Given the description of an element on the screen output the (x, y) to click on. 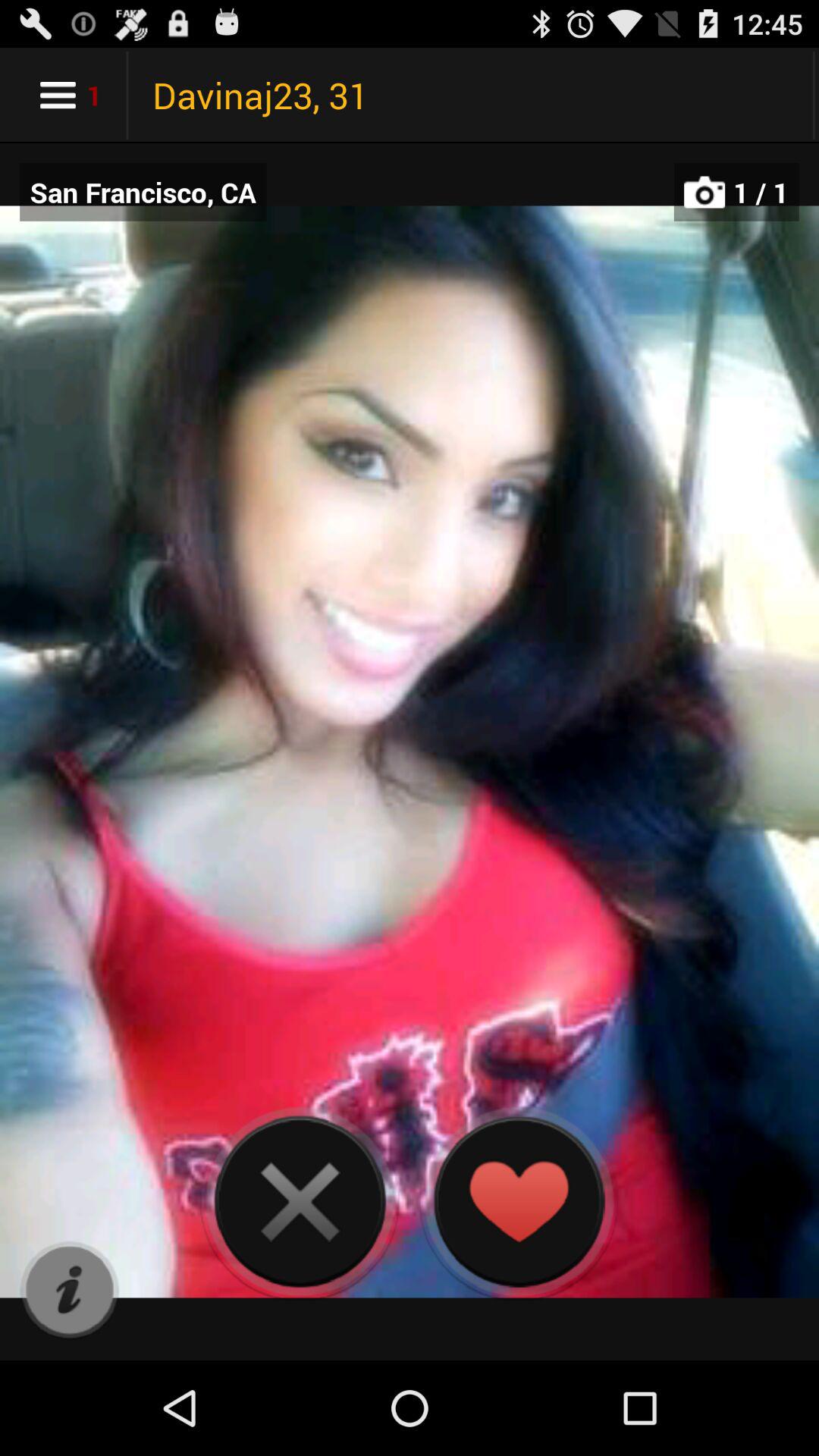
next picture (299, 1200)
